Given the description of an element on the screen output the (x, y) to click on. 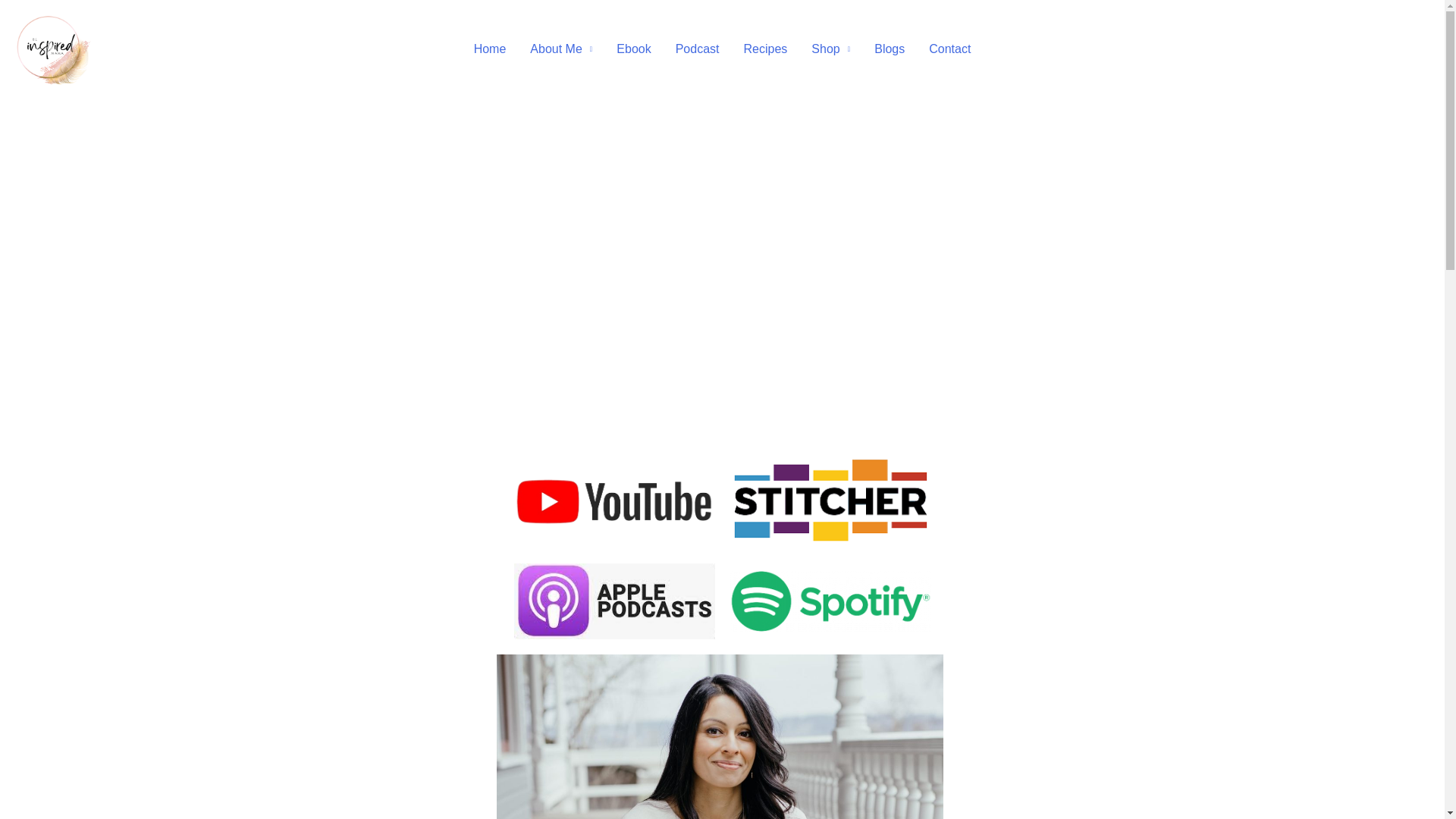
Podcast (697, 49)
About Me (561, 49)
Blogs (889, 49)
Ebook (633, 49)
Shop (830, 49)
Recipes (764, 49)
Home (489, 49)
Contact (949, 49)
